Given the description of an element on the screen output the (x, y) to click on. 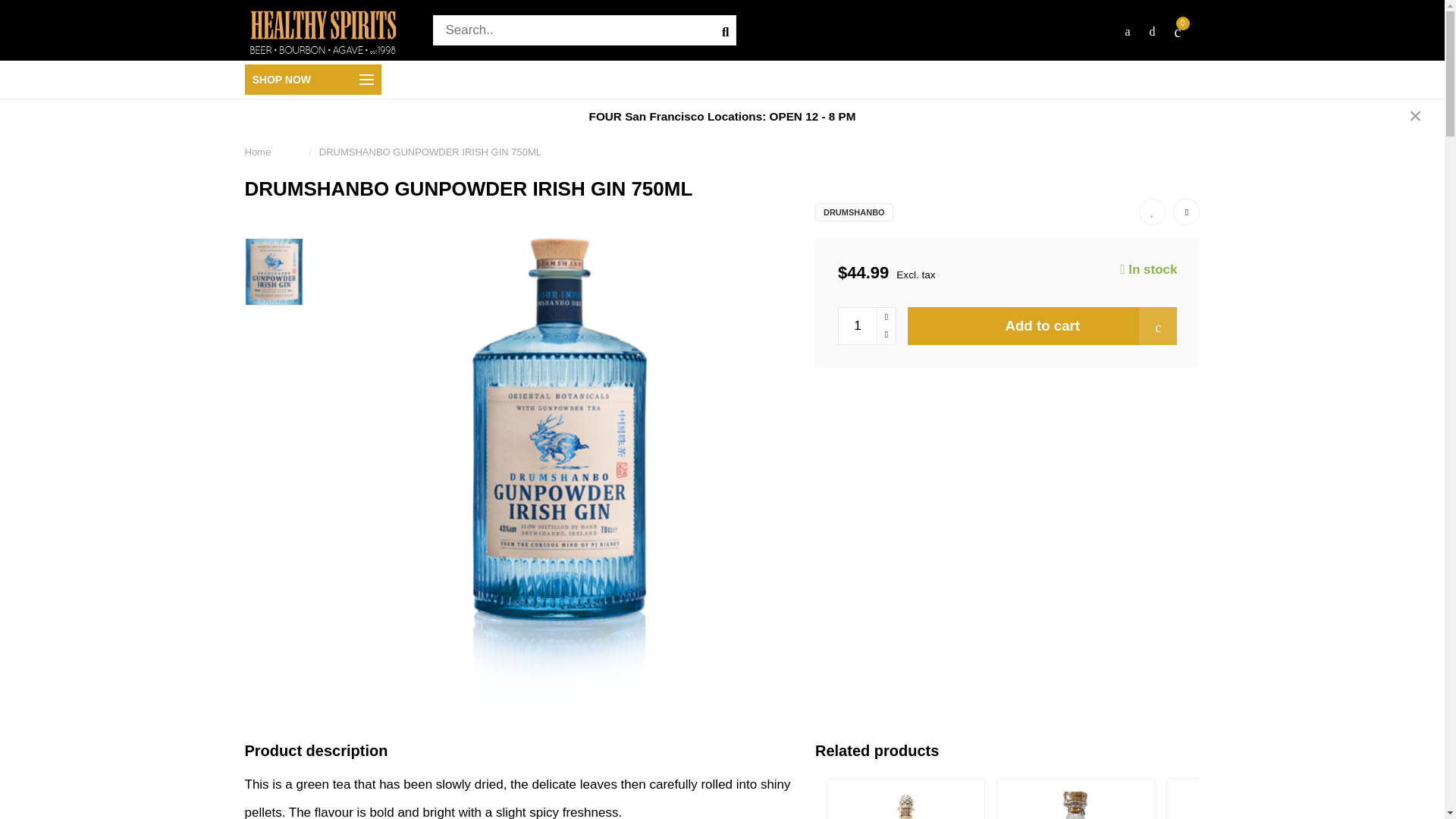
1 (866, 325)
Home (257, 156)
